Given the description of an element on the screen output the (x, y) to click on. 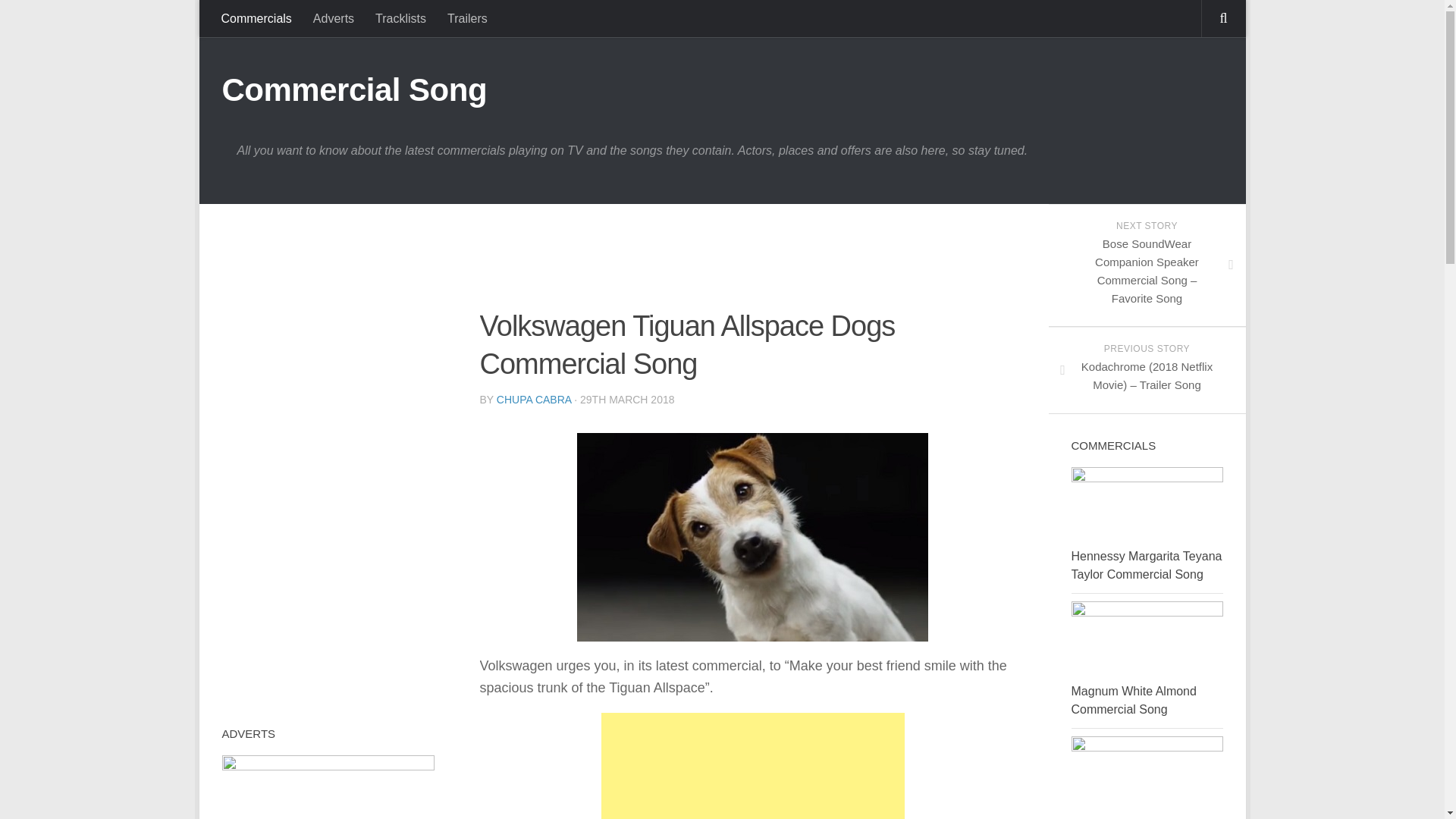
Commercial Song (353, 90)
Trailers (466, 18)
CHUPA CABRA (534, 399)
Posts by Chupa Cabra (534, 399)
Tracklists (400, 18)
Commercials (256, 18)
Adverts (333, 18)
Hennessy Margarita Teyana Taylor Commercial Song (1145, 564)
